Given the description of an element on the screen output the (x, y) to click on. 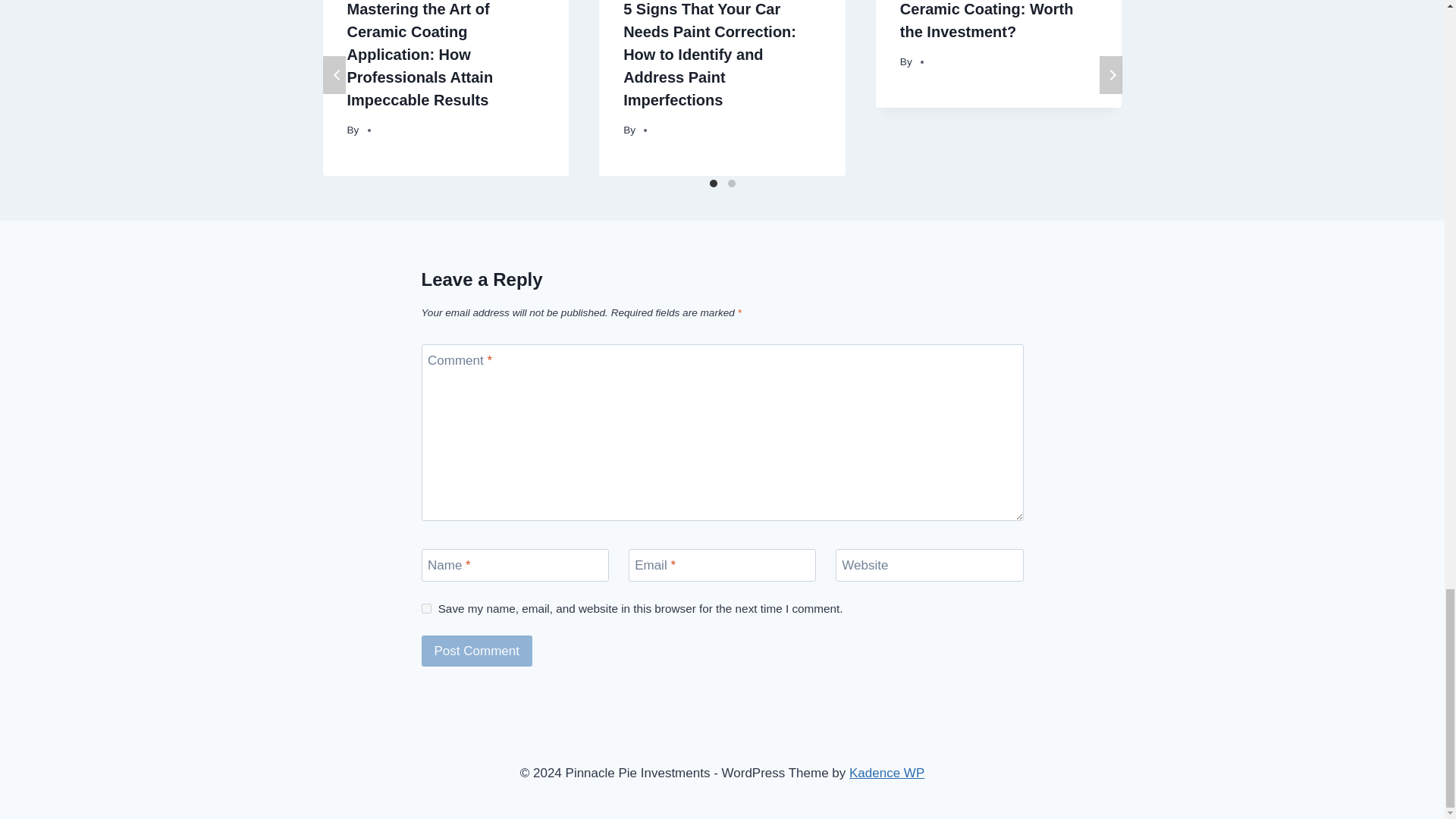
Post Comment (477, 650)
Ceramic Coating: Worth the Investment? (986, 20)
yes (426, 608)
